Given the description of an element on the screen output the (x, y) to click on. 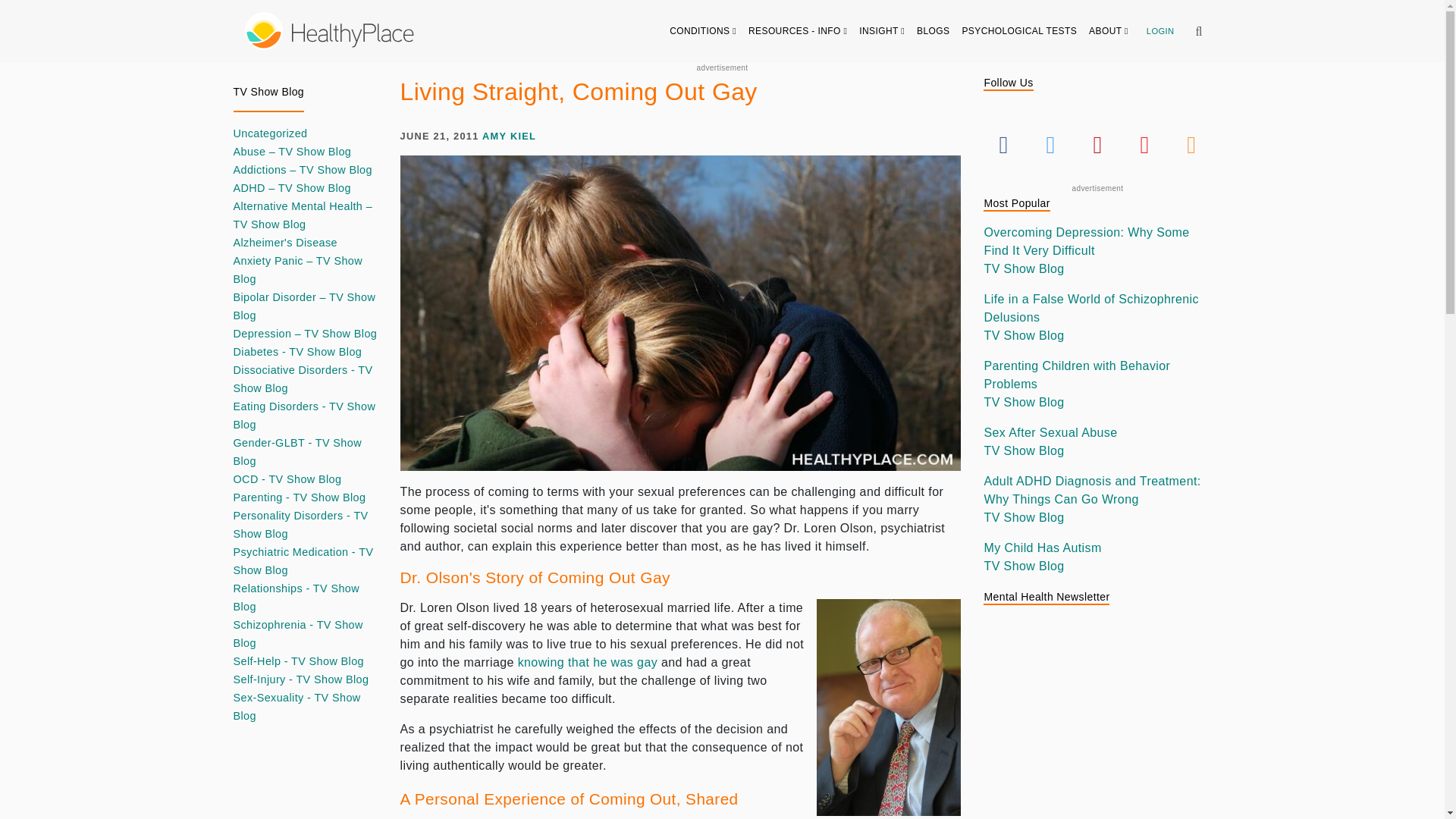
INSIGHT (882, 31)
CONDITIONS (702, 31)
RESOURCES - INFO (797, 31)
